Given the description of an element on the screen output the (x, y) to click on. 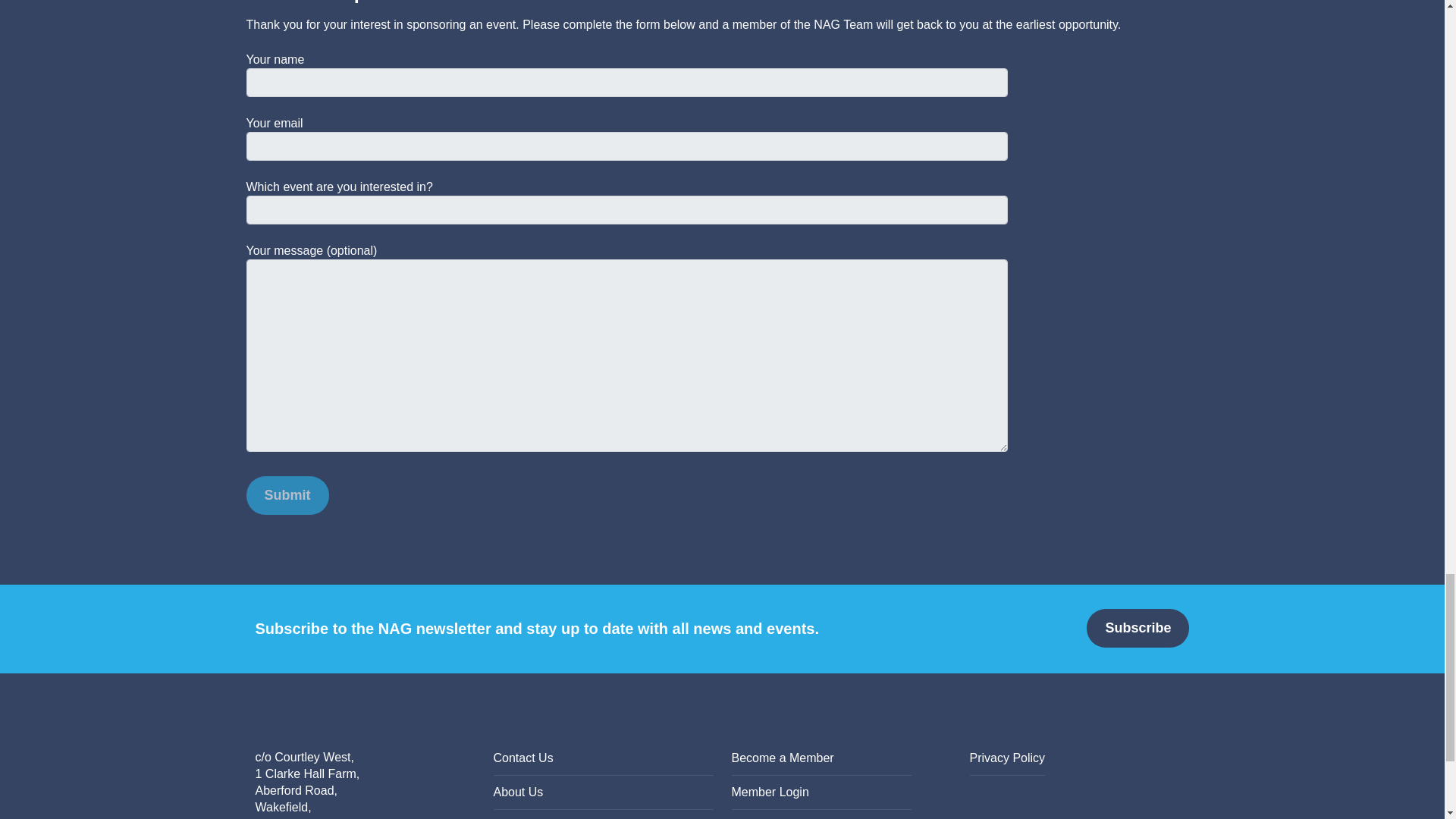
Submit (287, 495)
